Given the description of an element on the screen output the (x, y) to click on. 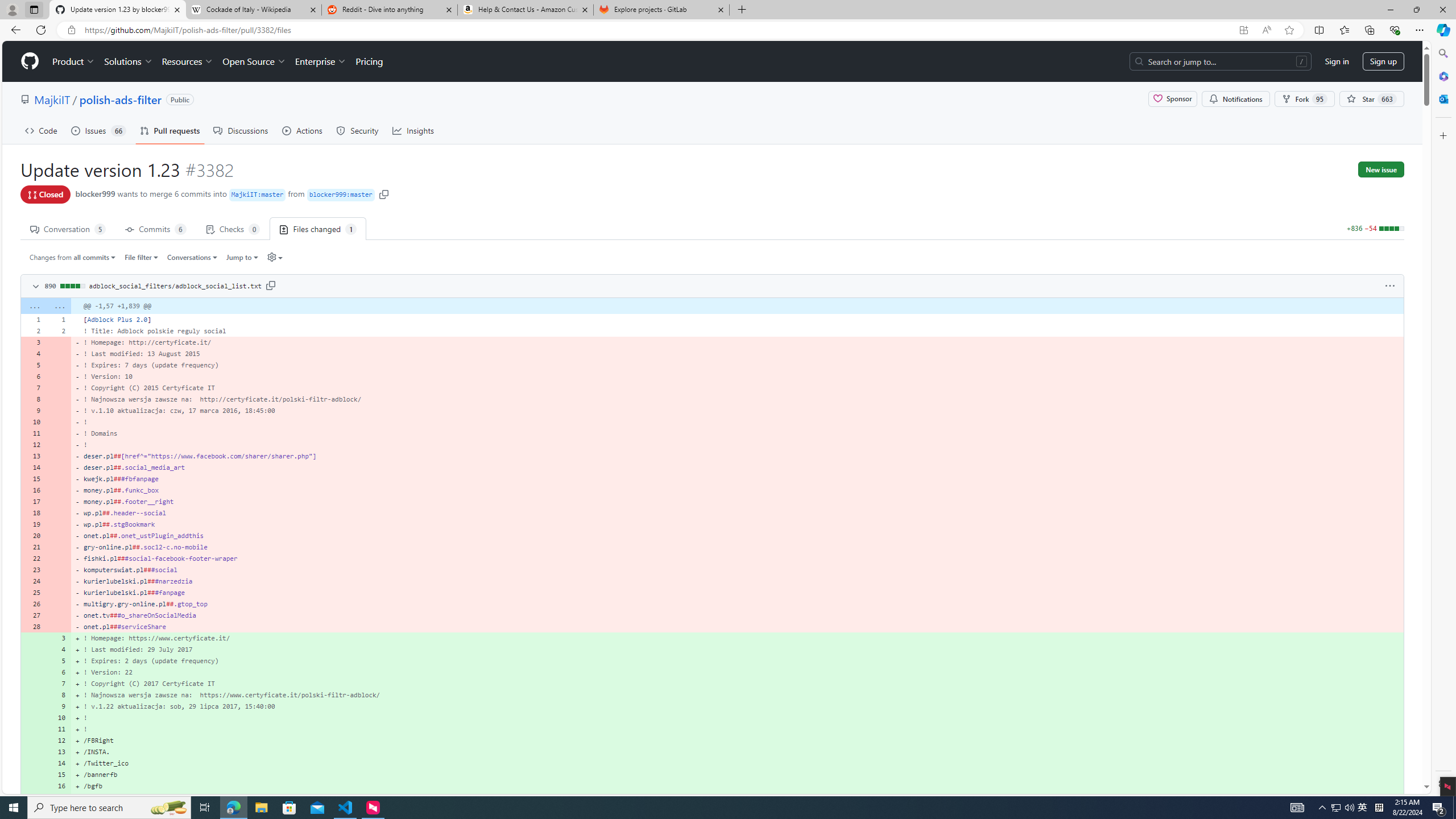
Changes from all commits (72, 257)
28 (33, 626)
Fork 95 (1304, 98)
13 (58, 751)
Enterprise (319, 60)
Solutions (128, 60)
 Star 663 (1371, 98)
Homepage (29, 61)
- ! Expires: 7 days (update frequency)  (737, 365)
27 (33, 614)
+ /INSTA.  (737, 751)
18 (33, 512)
10 (58, 717)
